Given the description of an element on the screen output the (x, y) to click on. 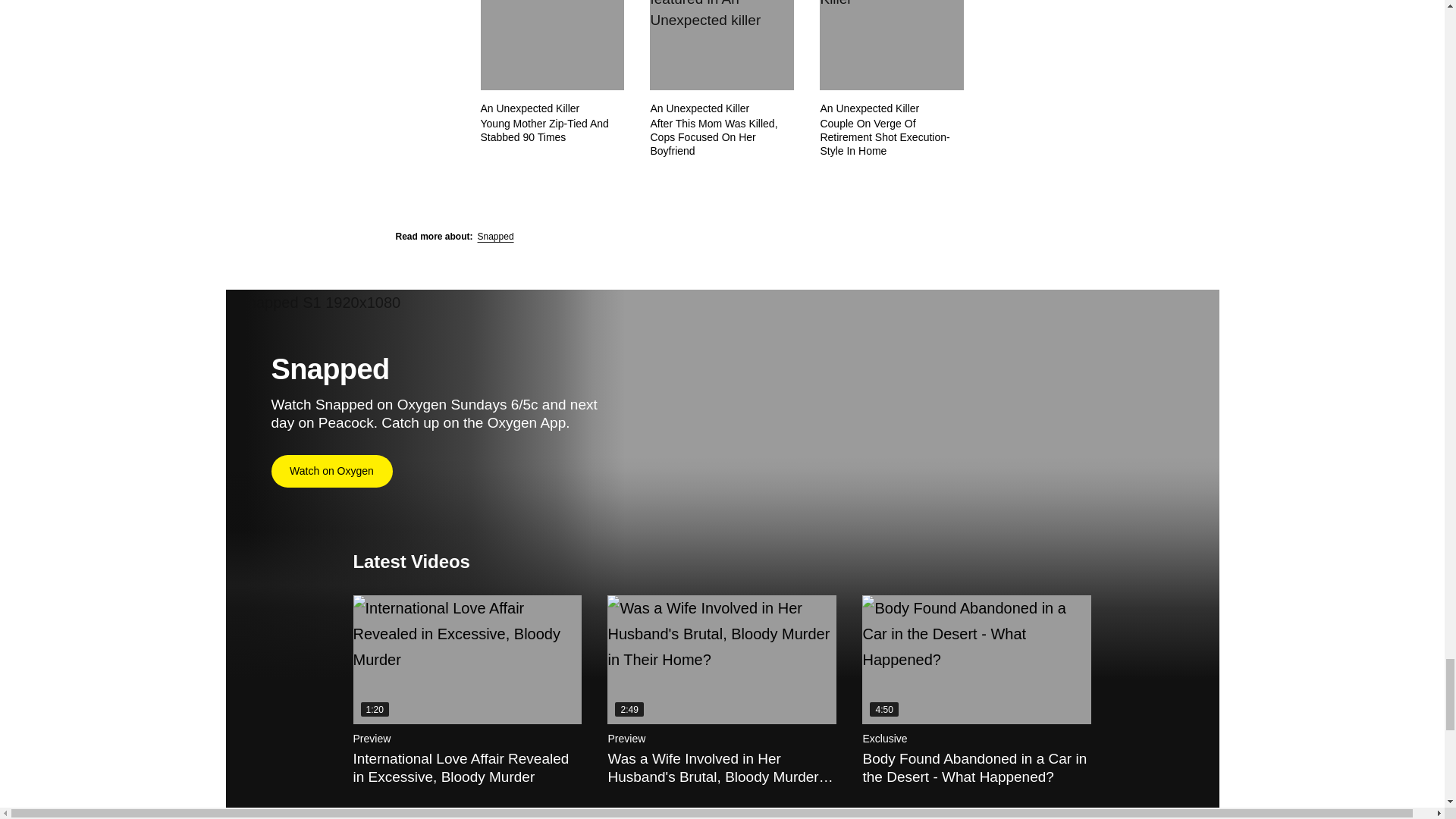
Body Found Abandoned in a Car in the Desert - What Happened? (975, 659)
